Given the description of an element on the screen output the (x, y) to click on. 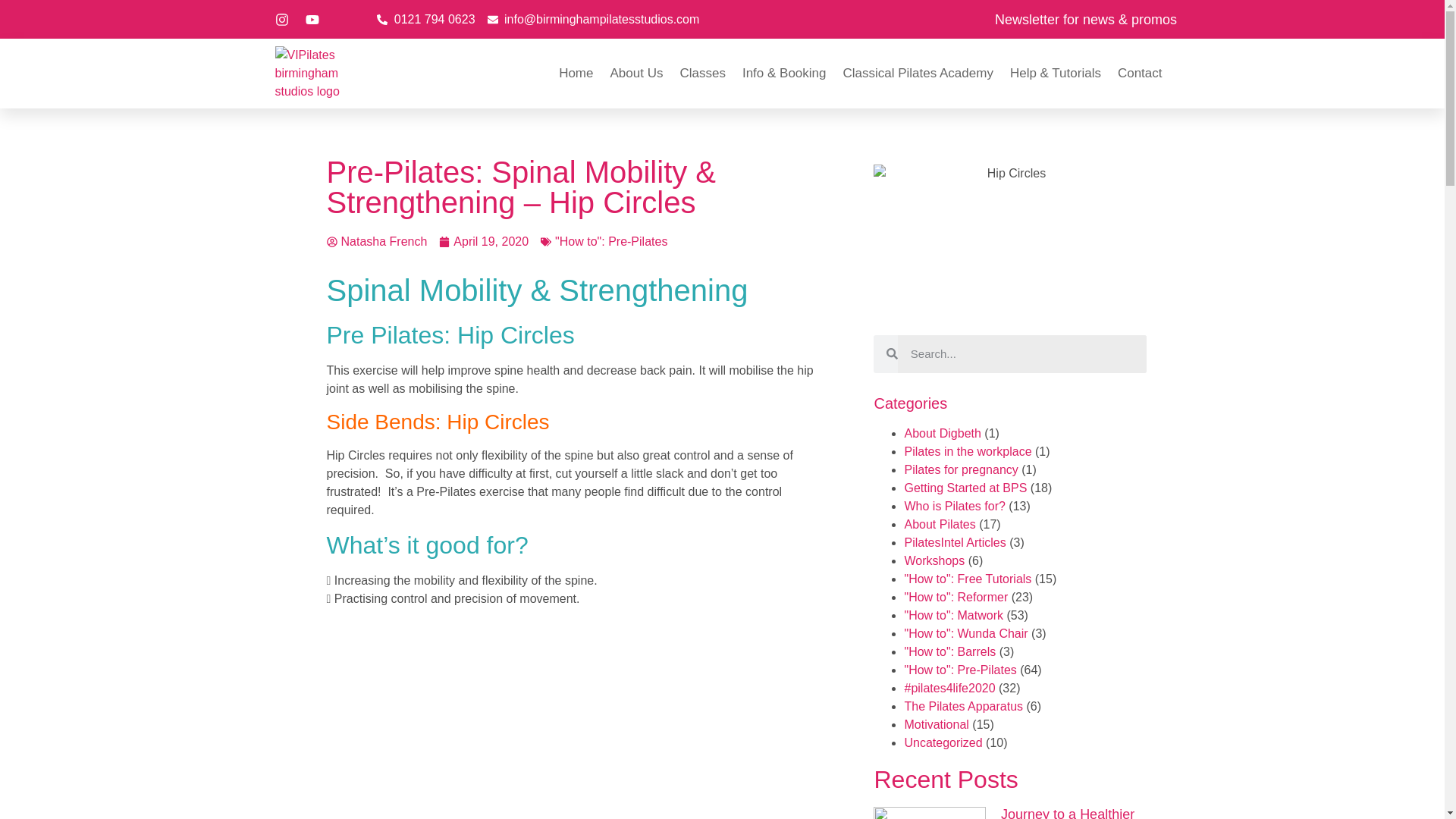
About Digbeth (941, 432)
Classes (702, 73)
Pilates for pregnancy (960, 469)
April 19, 2020 (483, 241)
VIPilates birmingham studios logo (311, 72)
About Pilates (939, 523)
Classical Pilates Academy (917, 73)
Home (575, 73)
Natasha French (376, 241)
Hip Circles (577, 733)
